Given the description of an element on the screen output the (x, y) to click on. 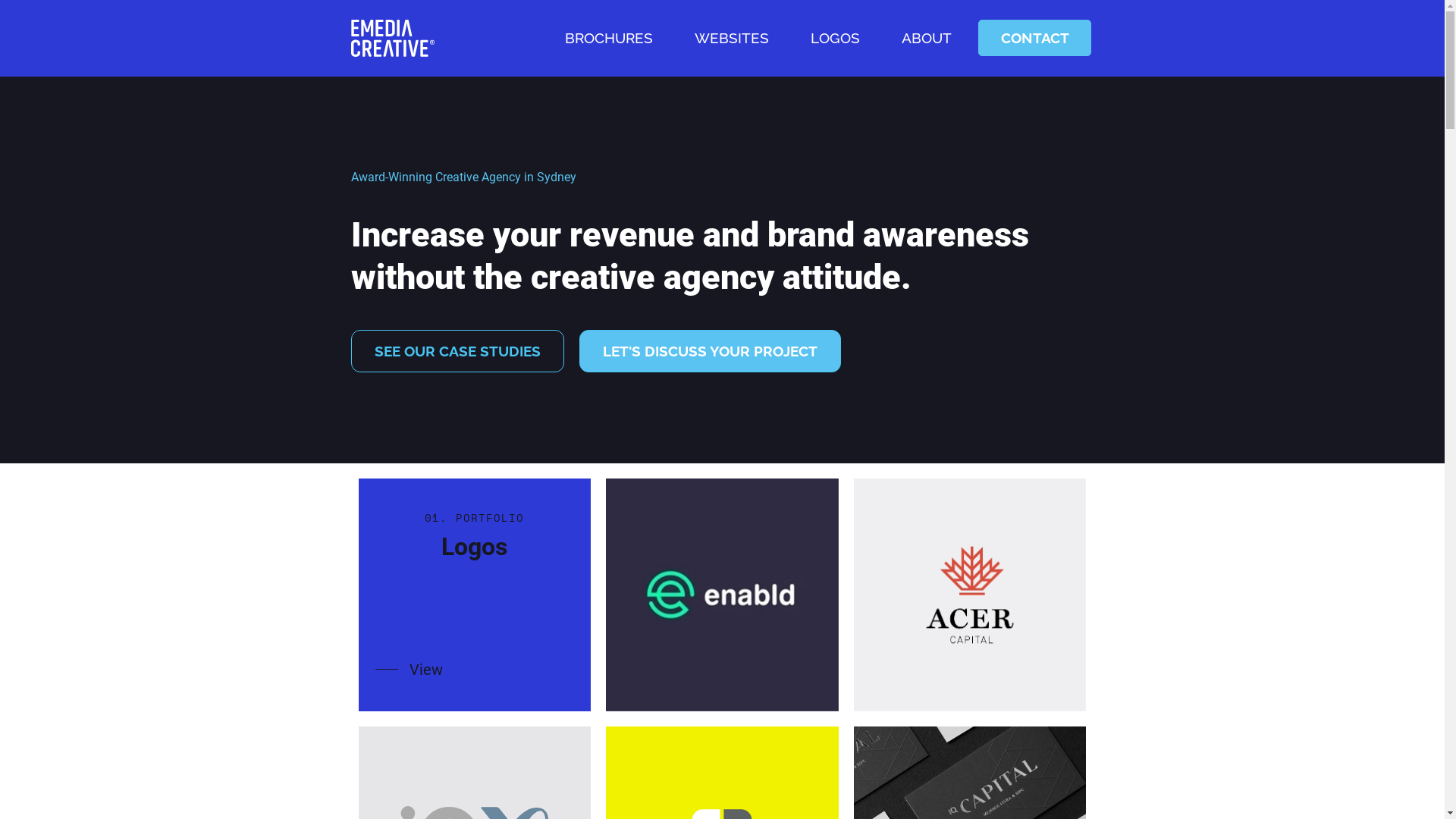
LET'S DISCUSS YOUR PROJECT Element type: text (709, 350)
SEE OUR CASE STUDIES Element type: text (456, 350)
WEBSITES Element type: text (731, 37)
CONTACT Element type: text (1034, 37)
LOGOS Element type: text (835, 37)
ABOUT Element type: text (926, 37)
BROCHURES Element type: text (608, 37)
View Element type: text (408, 669)
